Given the description of an element on the screen output the (x, y) to click on. 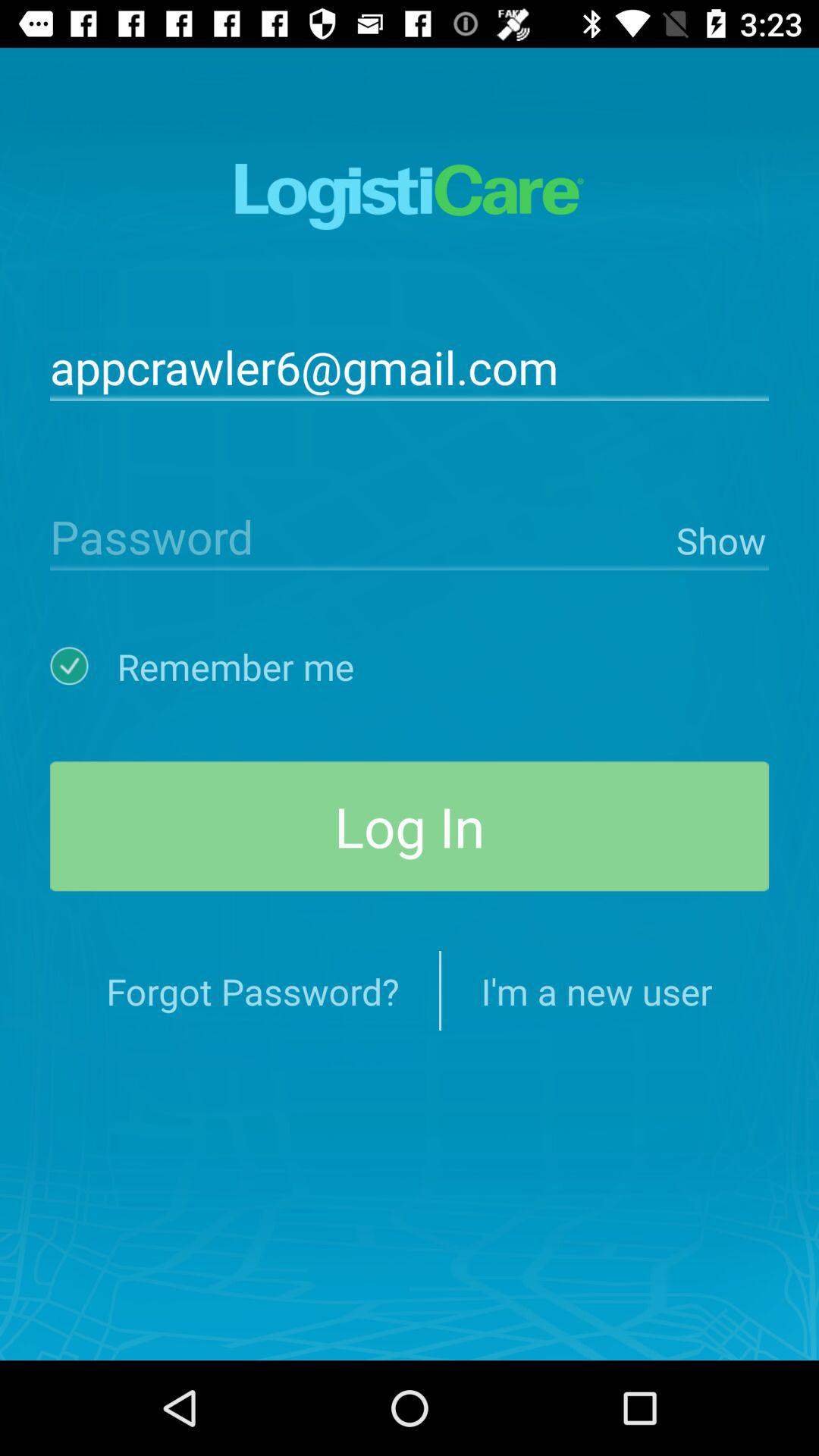
remember me checkbox (83, 665)
